Given the description of an element on the screen output the (x, y) to click on. 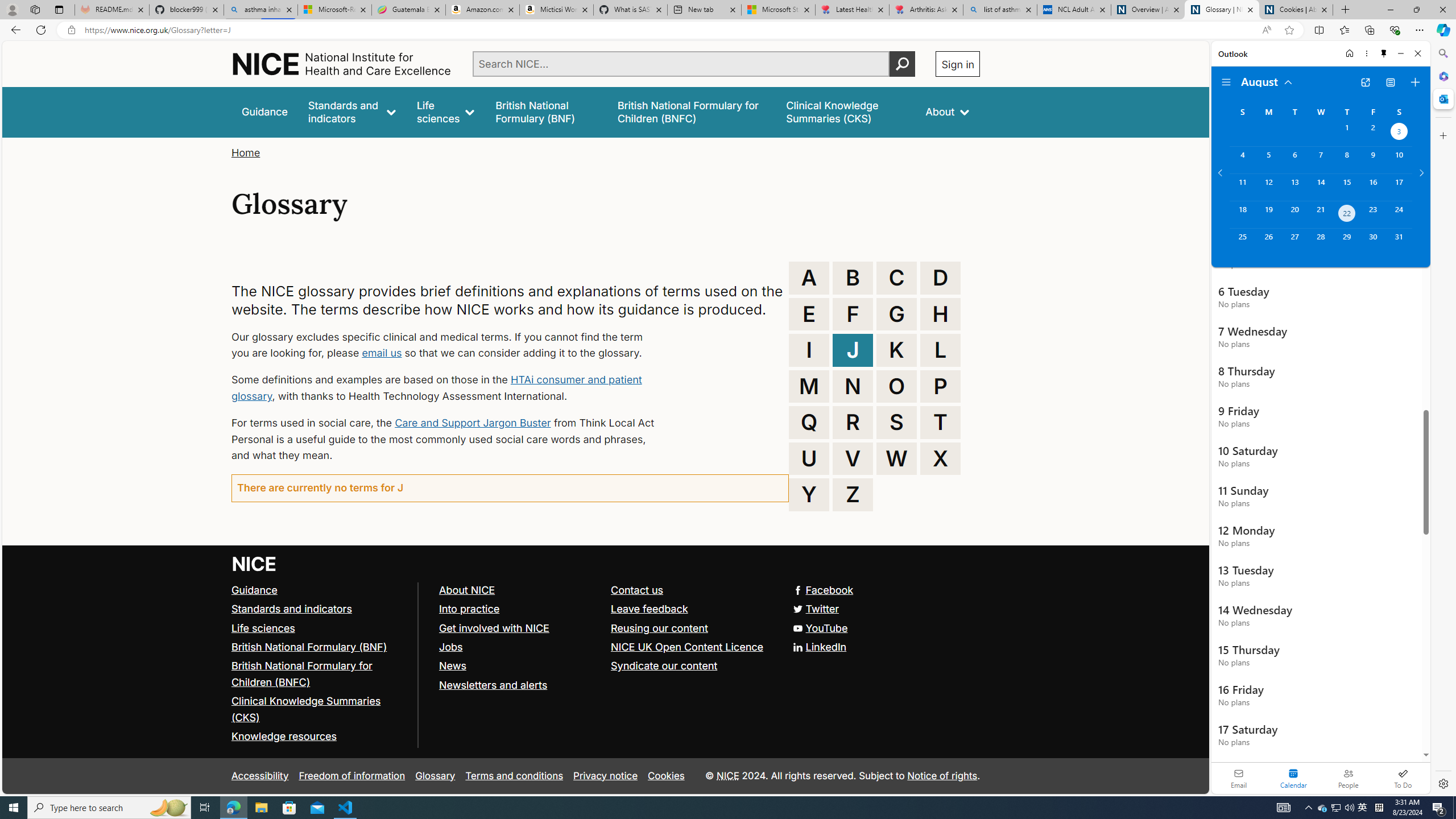
Thursday, August 8, 2024.  (1346, 159)
Q (809, 422)
O (896, 385)
Glossary (434, 775)
C (896, 277)
X (940, 458)
About NICE (518, 589)
Into practice (468, 608)
X (940, 458)
Jobs (450, 646)
